Given the description of an element on the screen output the (x, y) to click on. 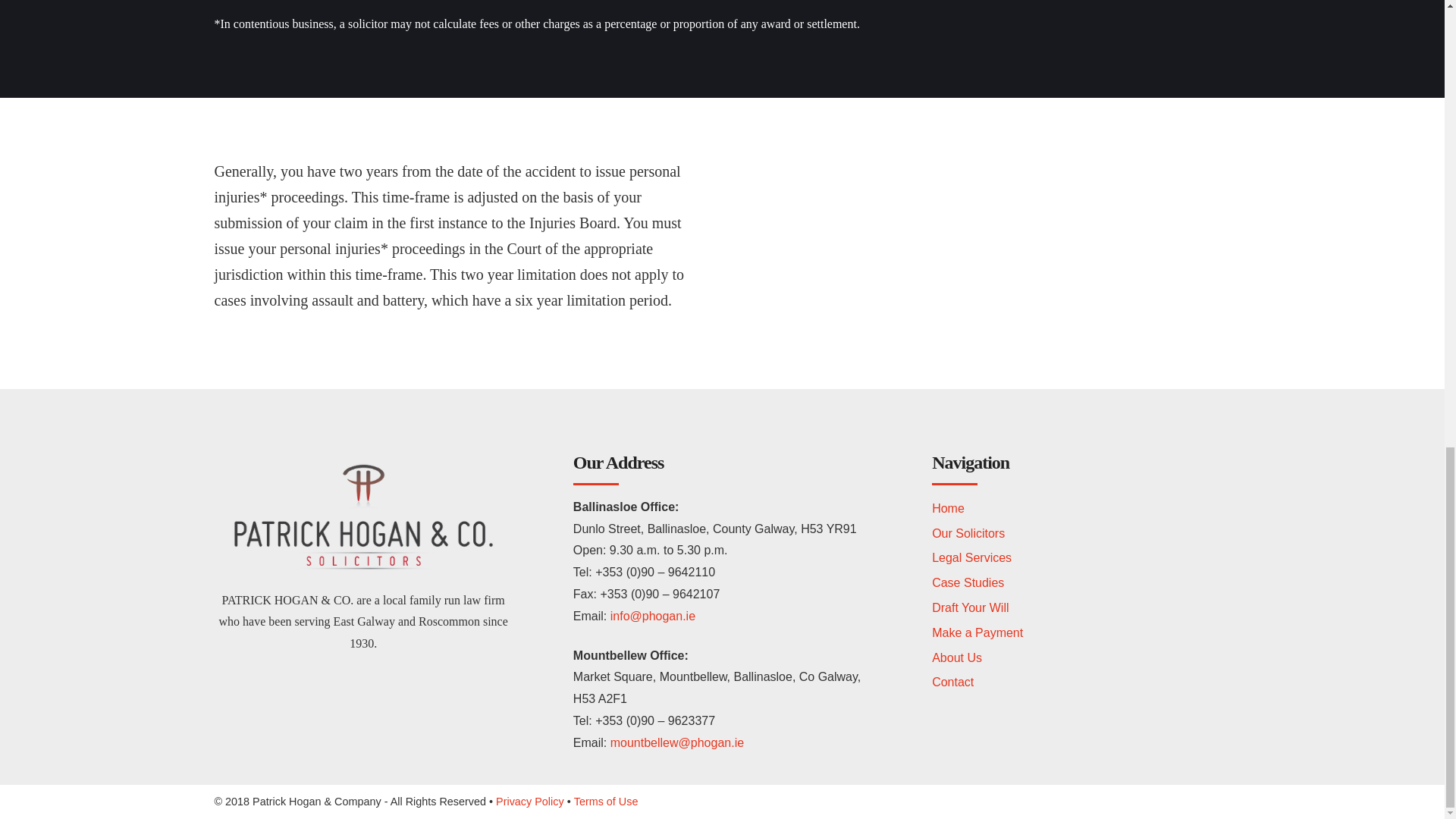
Terms of Use (606, 801)
Contact (952, 681)
Draft Your Will (970, 607)
Legal Services (971, 557)
Our Solicitors (967, 533)
Home (947, 508)
Privacy Policy (530, 801)
Case Studies (967, 582)
About Us (956, 657)
Make a Payment (977, 632)
